Given the description of an element on the screen output the (x, y) to click on. 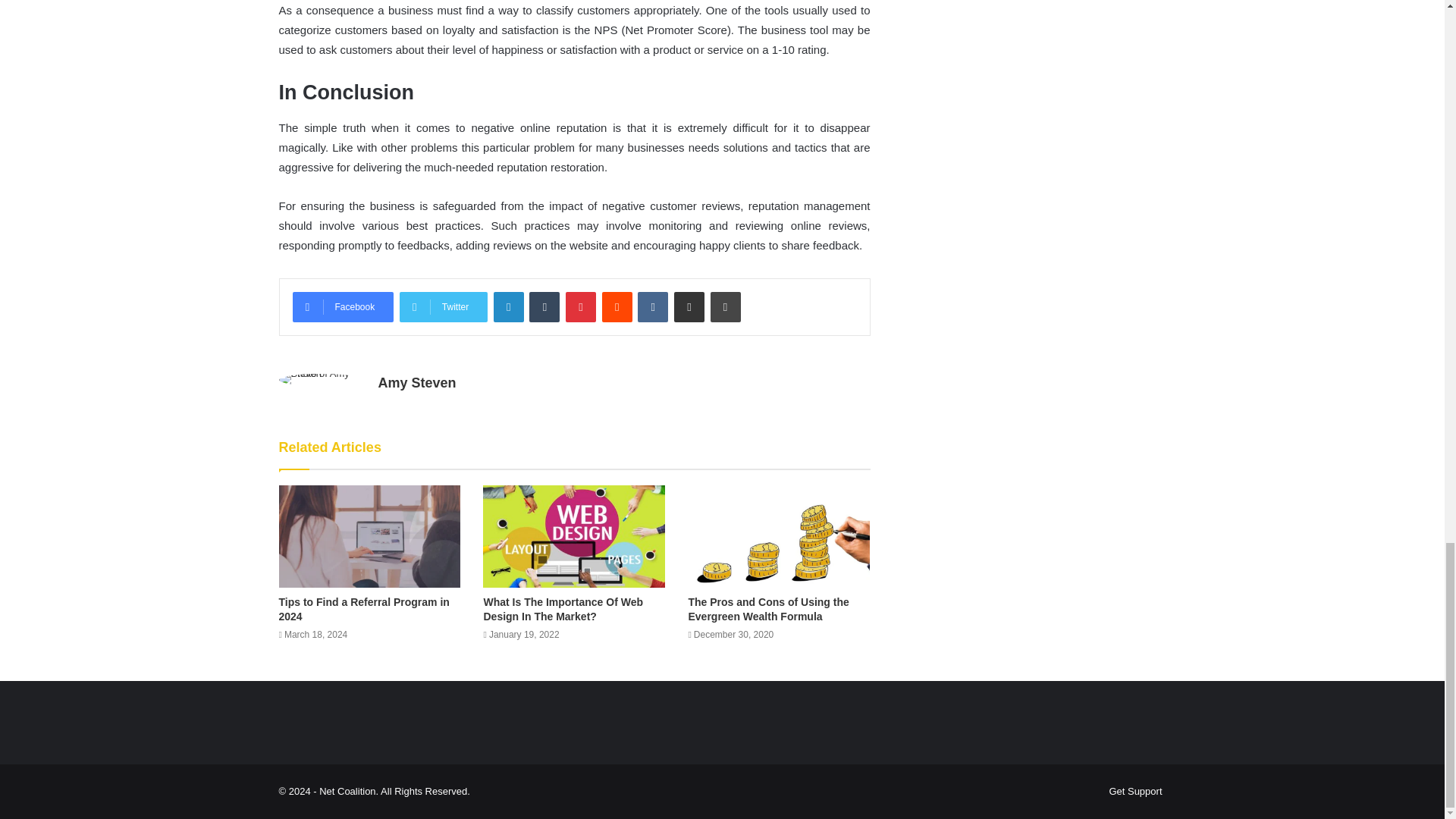
Reddit (616, 306)
What Is The Importance Of Web Design In The Market? (563, 609)
Print (725, 306)
VKontakte (652, 306)
Share via Email (689, 306)
The Pros and Cons of Using the Evergreen Wealth Formula (767, 609)
LinkedIn (508, 306)
Twitter (442, 306)
Pinterest (580, 306)
Reddit (616, 306)
Tumblr (544, 306)
Share via Email (689, 306)
VKontakte (652, 306)
Tips to Find a Referral Program in 2024 (364, 609)
Print (725, 306)
